Given the description of an element on the screen output the (x, y) to click on. 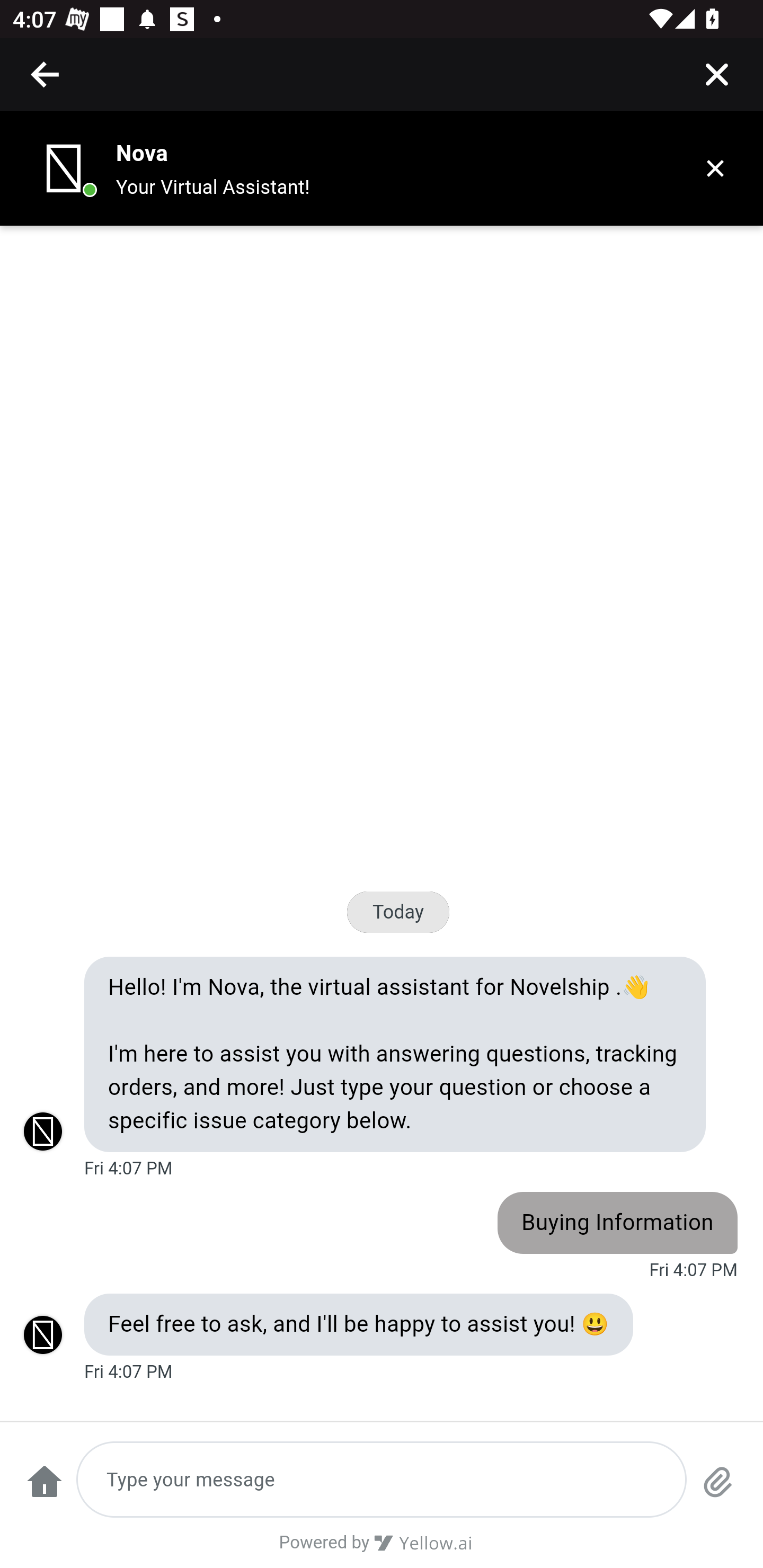
 (46, 74)
 (716, 74)
Nova bot icon (63, 168)
close bot (715, 168)
restart conversation (44, 1489)
upload file (718, 1489)
Powered by (381, 1549)
